Given the description of an element on the screen output the (x, y) to click on. 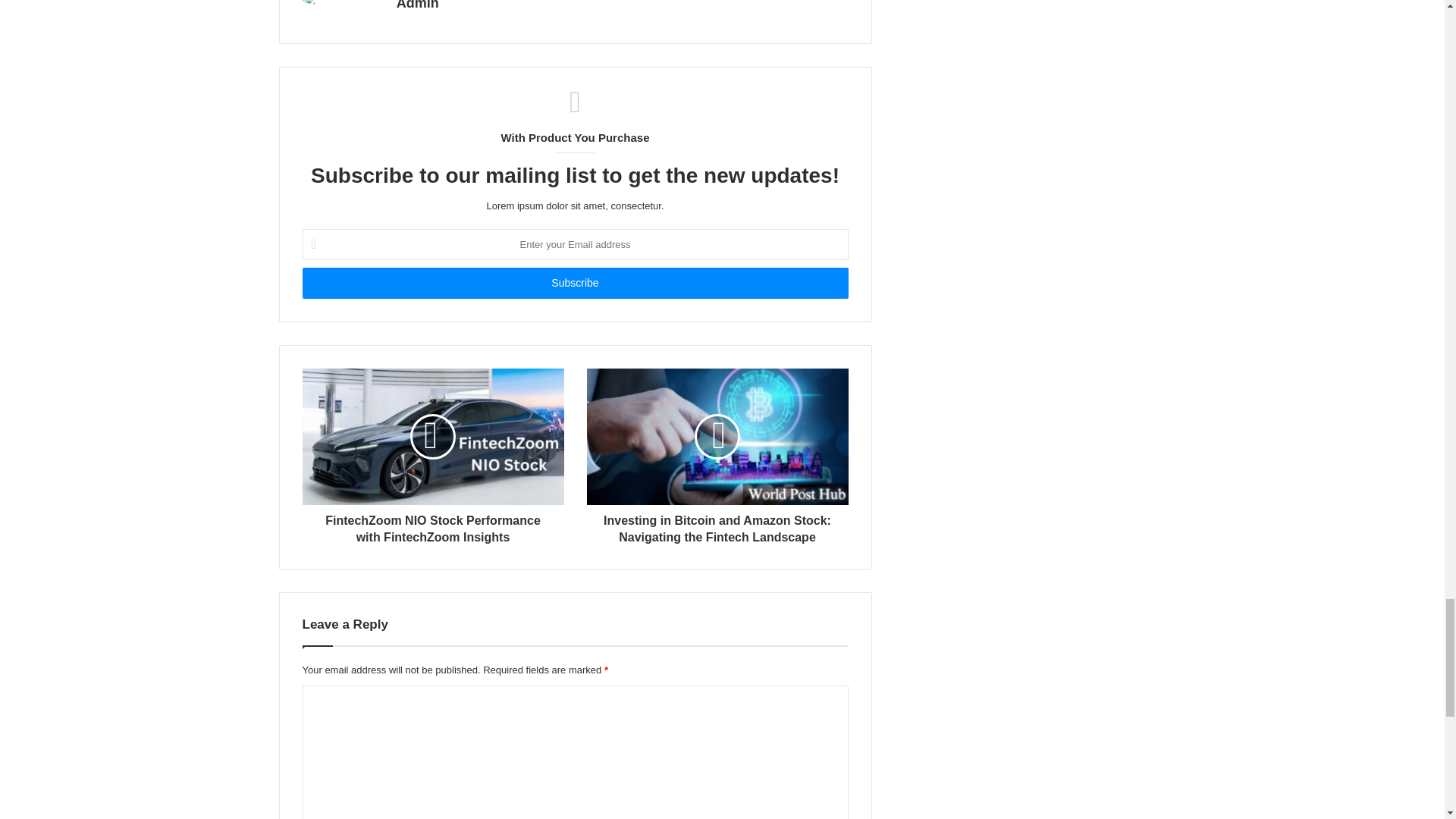
Subscribe (574, 282)
